Given the description of an element on the screen output the (x, y) to click on. 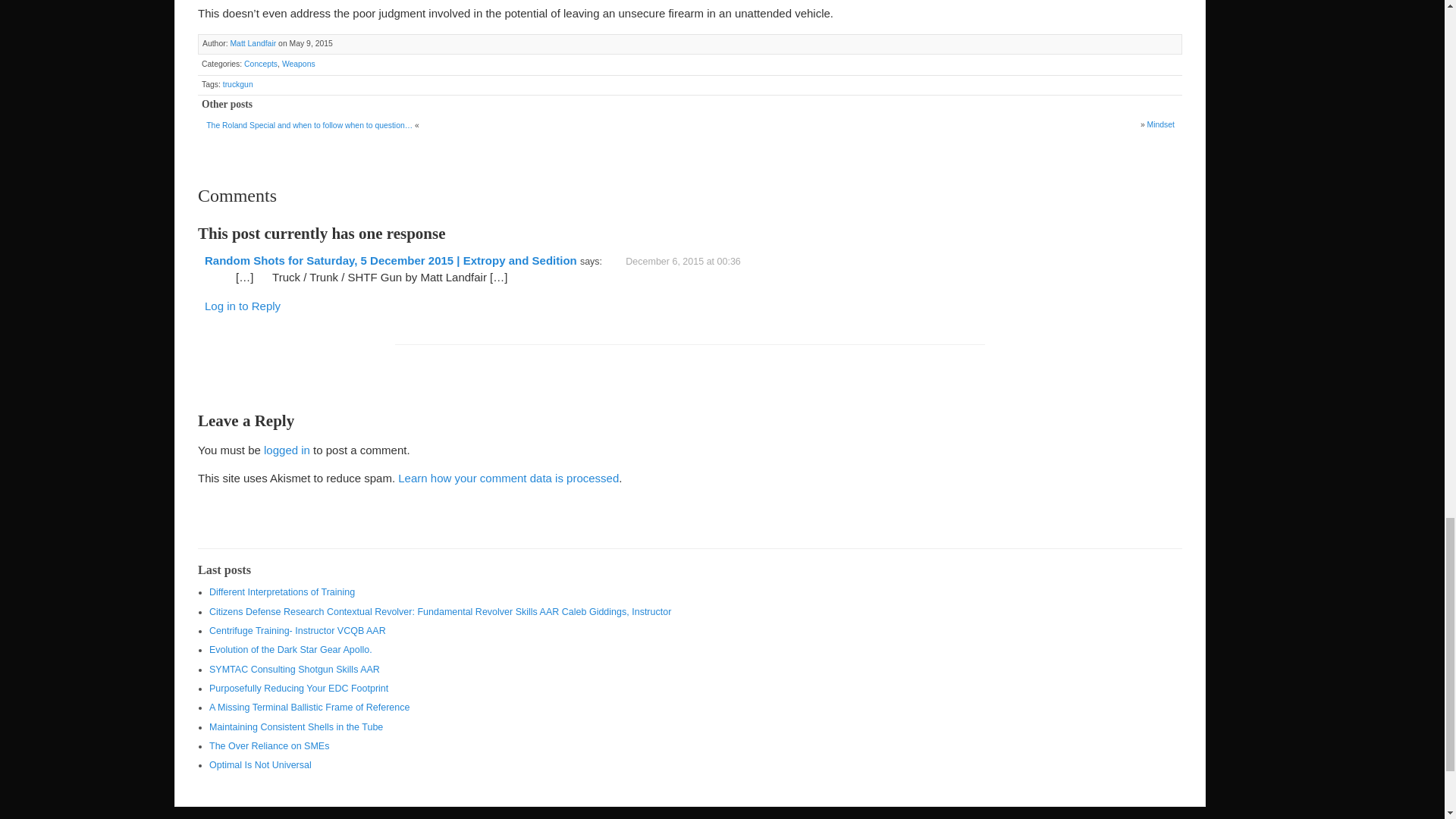
truckgun (237, 84)
Posts by Matt Landfair (253, 43)
Maintaining Consistent Shells in the Tube (295, 726)
Mindset (1160, 124)
Optimal Is Not Universal (260, 765)
Evolution of the Dark Star Gear Apollo.  (291, 649)
SYMTAC Consulting Shotgun Skills AAR (294, 669)
Purposefully Reducing Your EDC Footprint (298, 688)
A Missing Terminal Ballistic Frame of Reference (309, 706)
The Over Reliance on SMEs (269, 746)
Learn how your comment data is processed (507, 477)
December 6, 2015 at 00:36 (695, 259)
Log in to Reply (243, 305)
Concepts (261, 63)
